Given the description of an element on the screen output the (x, y) to click on. 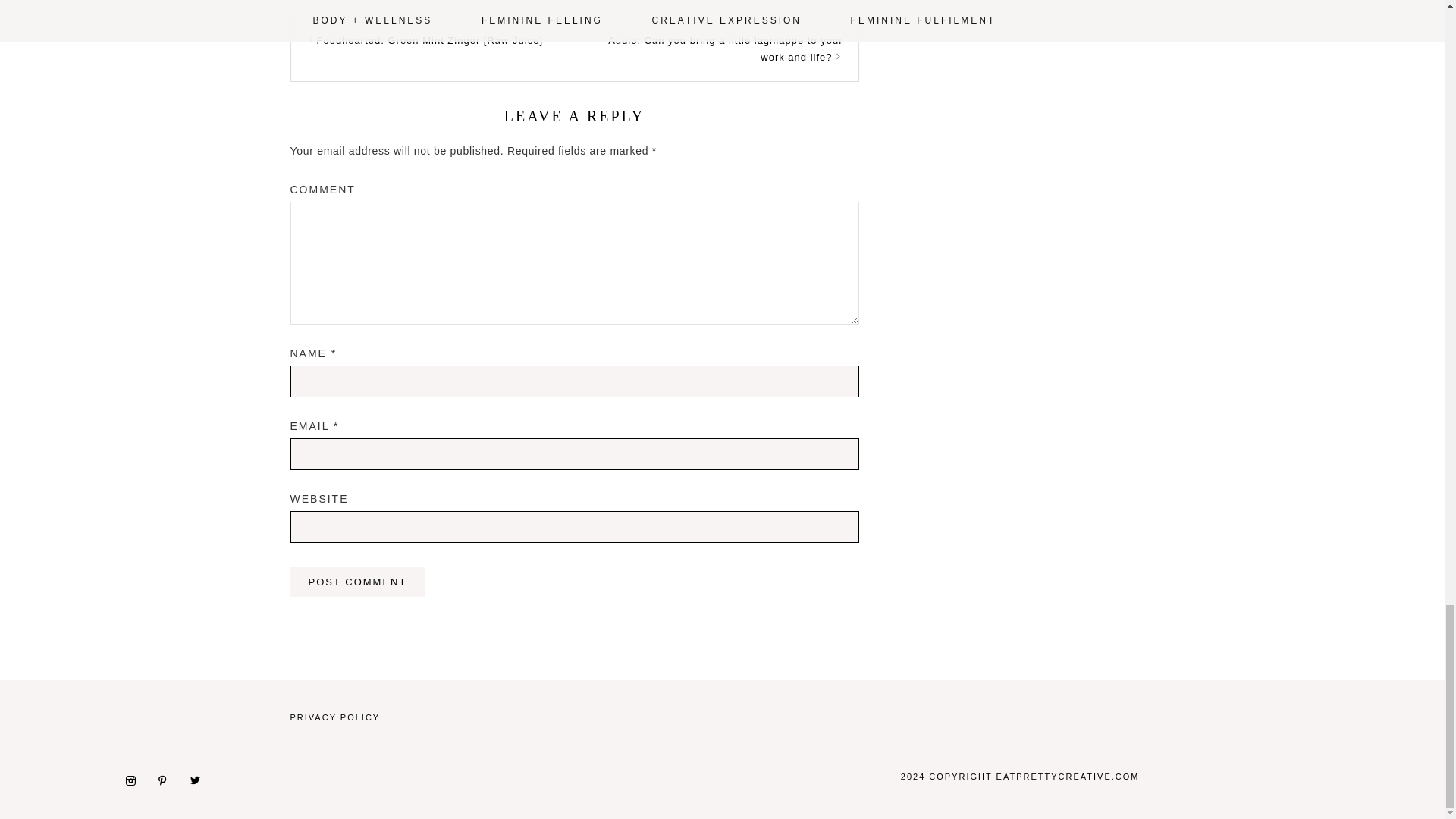
Twitter (200, 779)
Post Comment (357, 582)
Pinterest (167, 779)
Post Comment (357, 582)
Instagram (135, 779)
PRIVACY POLICY (334, 716)
